Given the description of an element on the screen output the (x, y) to click on. 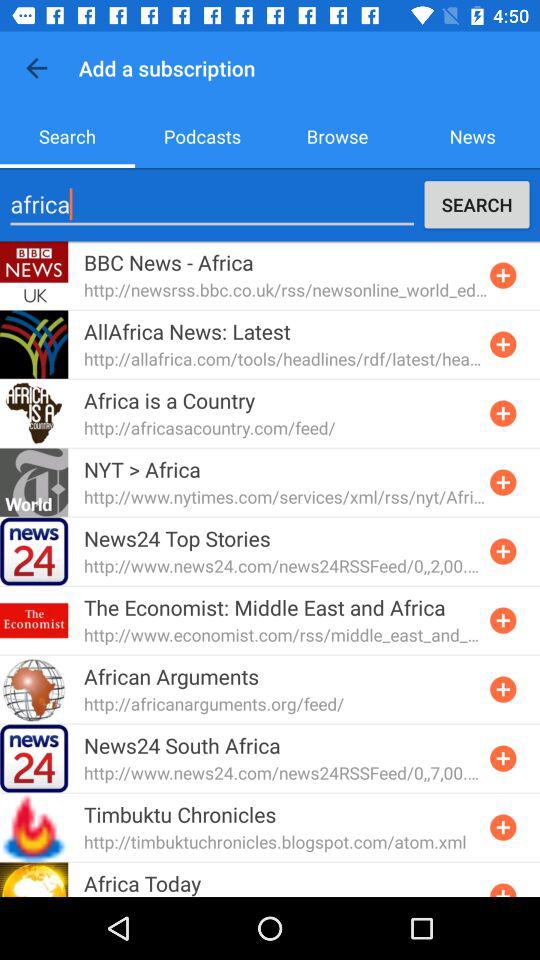
select the browse (337, 136)
